Given the description of an element on the screen output the (x, y) to click on. 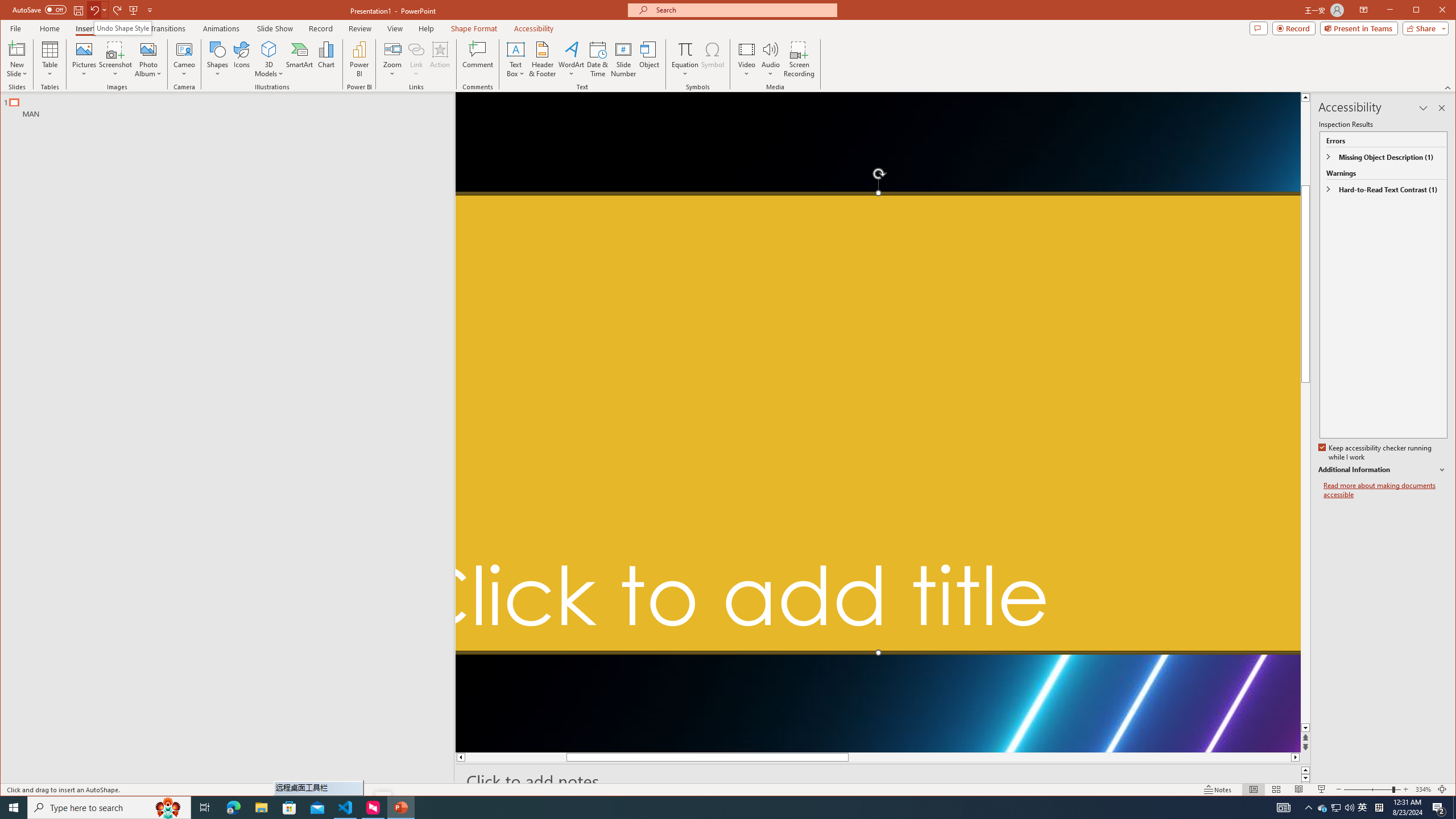
Screen Recording... (799, 59)
